Given the description of an element on the screen output the (x, y) to click on. 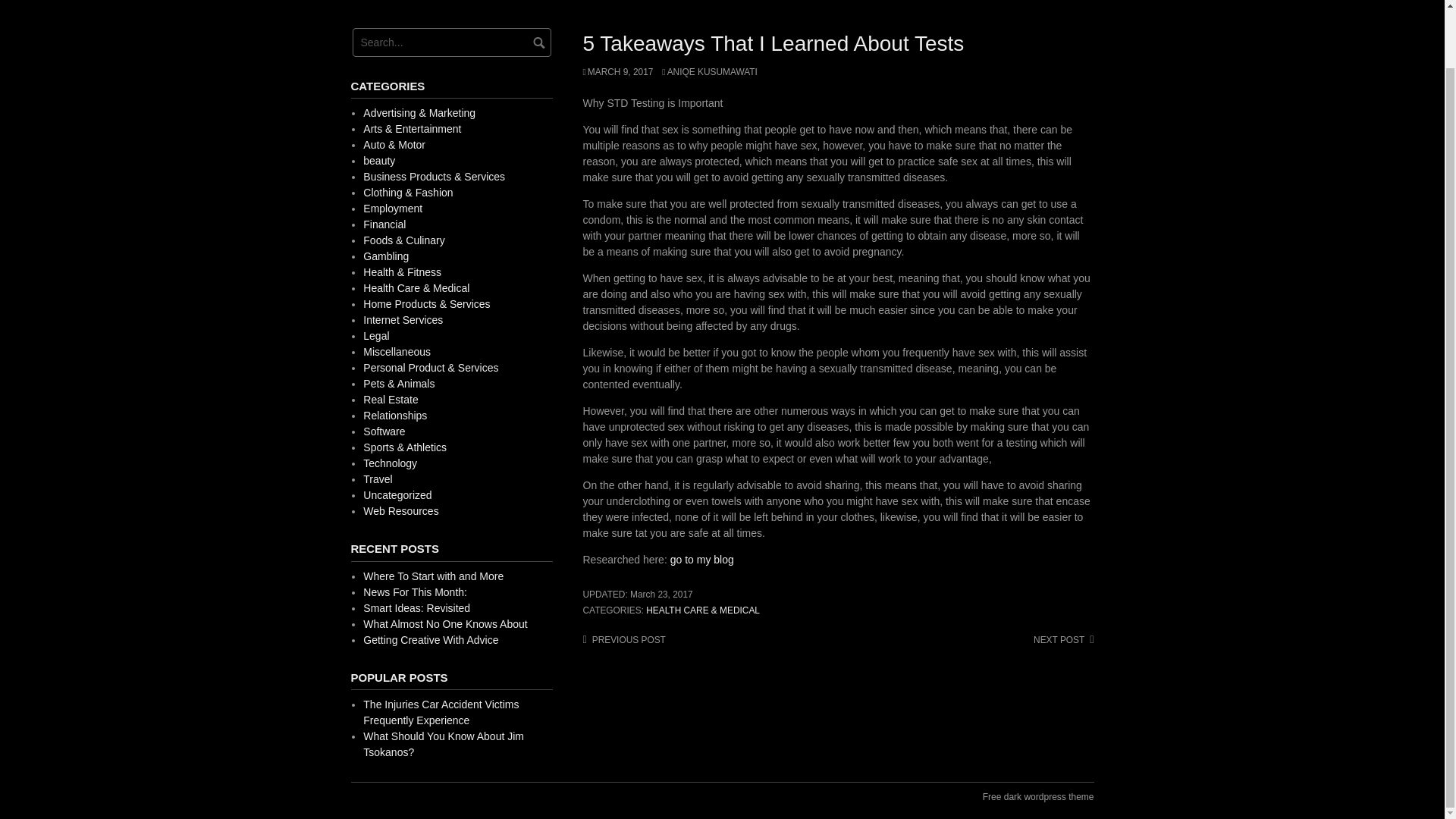
What Should You Know About Jim Tsokanos? (443, 744)
Search for: (451, 41)
PREVIOUS POST (623, 639)
Web Resources (400, 510)
Smart Ideas: Revisited (416, 607)
ANIQE KUSUMAWATI (709, 71)
Legal (375, 336)
Financial (384, 224)
go to my blog (701, 559)
March 23, 2017 (661, 593)
